Given the description of an element on the screen output the (x, y) to click on. 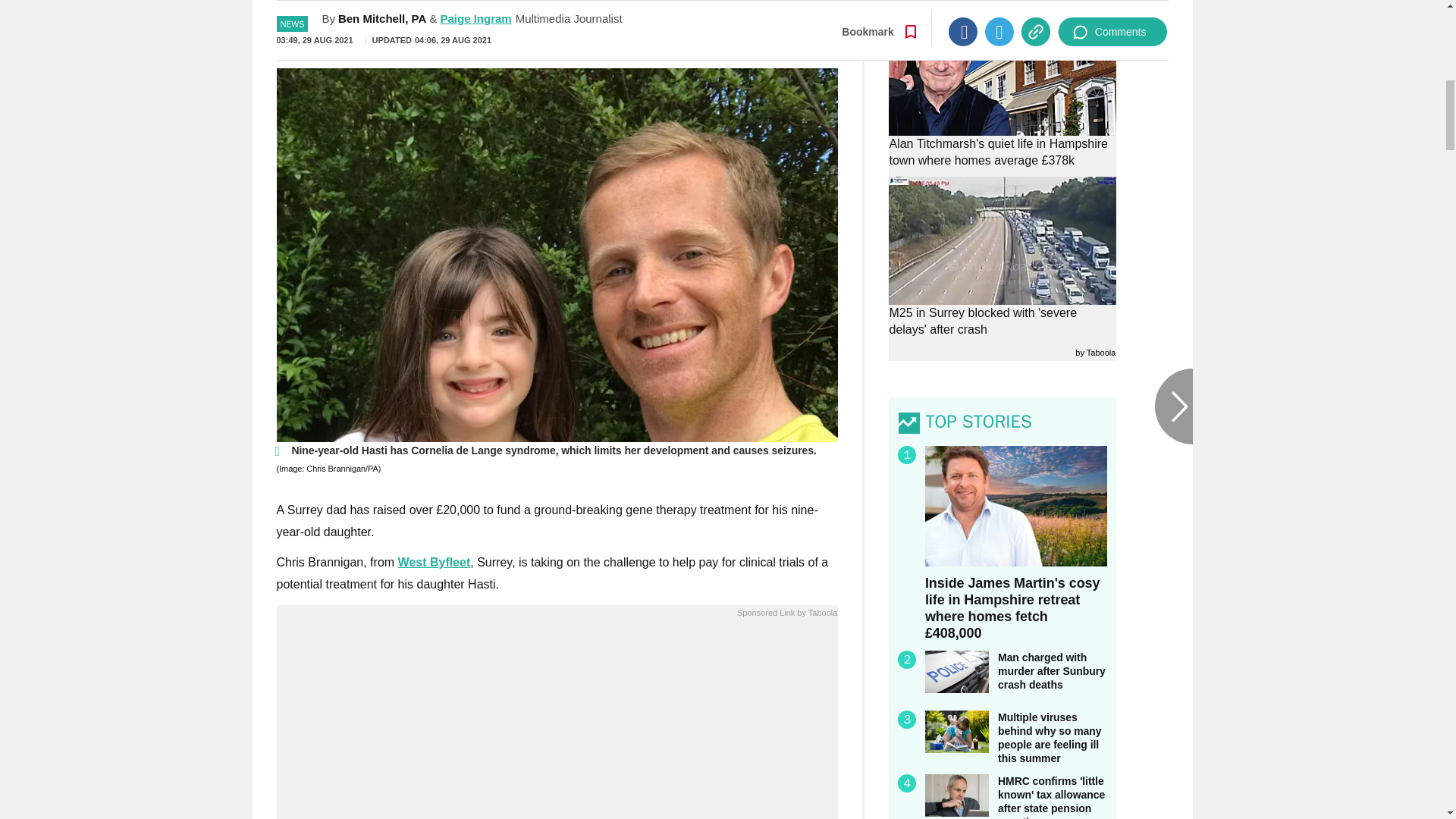
Go (730, 34)
